Given the description of an element on the screen output the (x, y) to click on. 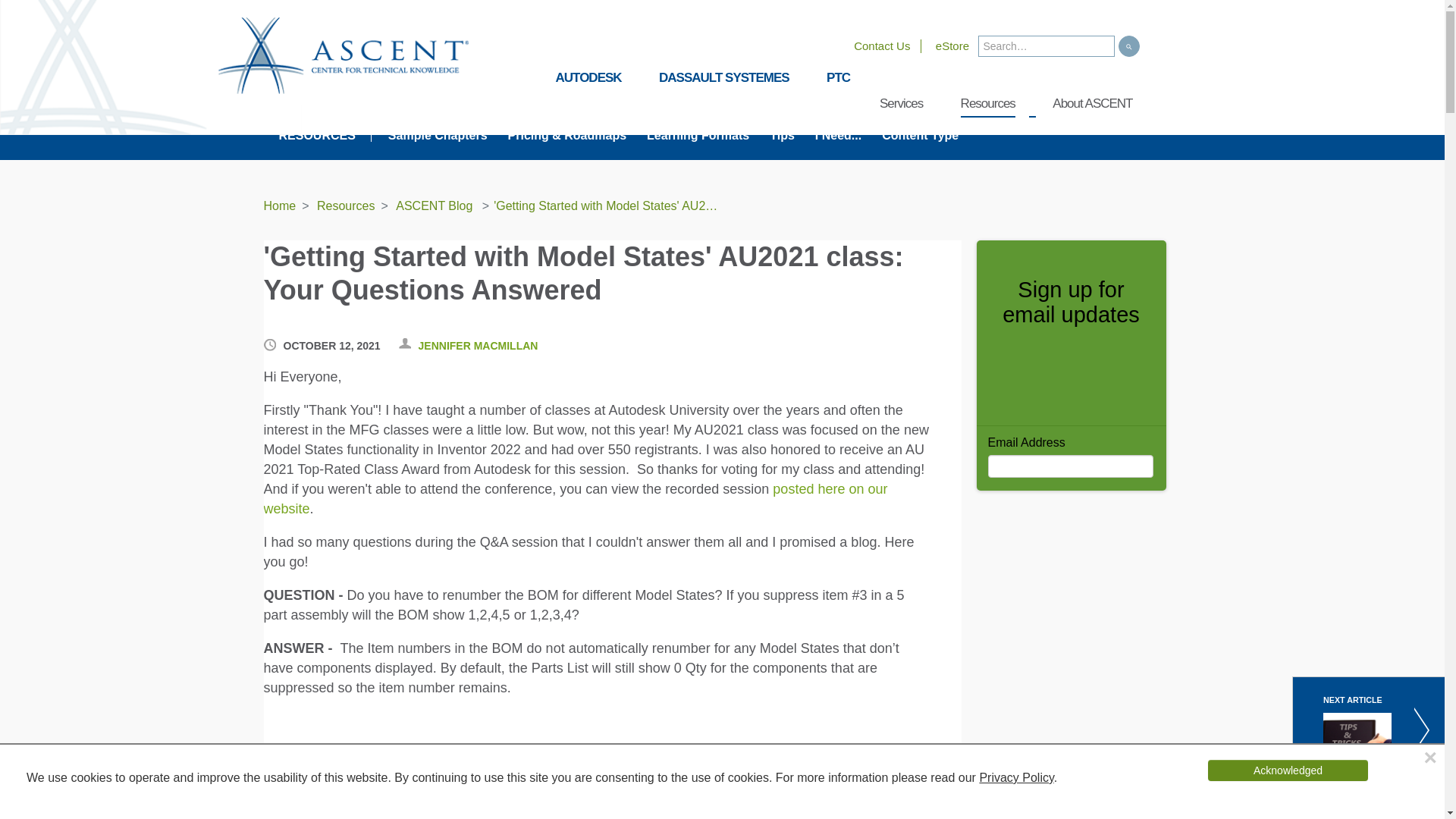
Resources (987, 104)
RESOURCES (325, 135)
DASSAULT SYSTEMES (724, 78)
eStore (951, 45)
Sample Chapters (437, 135)
PTC (838, 78)
AUTODESK (587, 78)
GO (1128, 46)
About ASCENT (1092, 104)
stagingdemo.ascented.com (343, 55)
Contact Us (881, 45)
Services (901, 104)
